Given the description of an element on the screen output the (x, y) to click on. 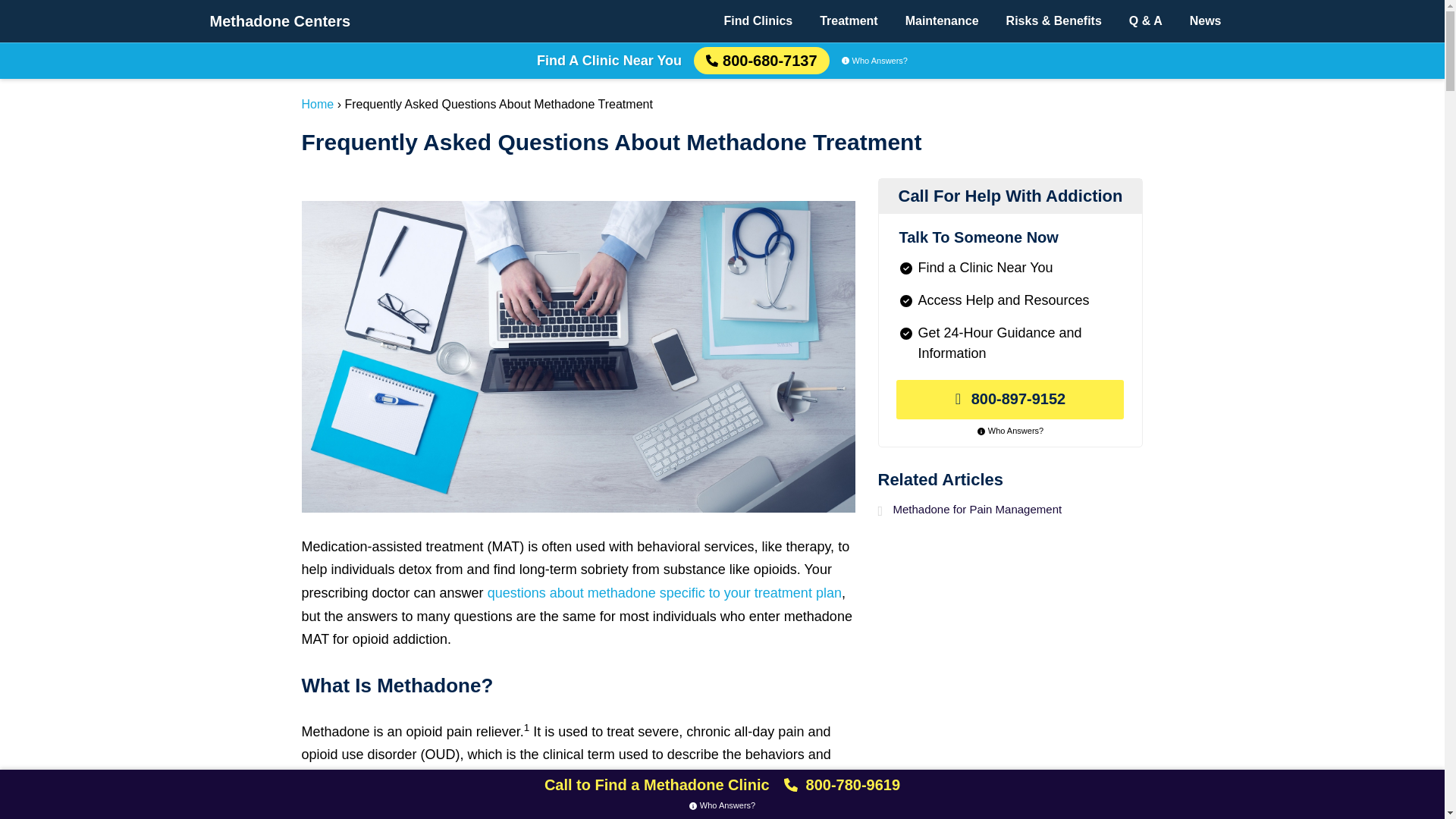
Maintenance (941, 21)
Treatment (848, 21)
Find Clinics (758, 21)
Find A Clinic Near You (609, 60)
News (1205, 21)
800-680-7137 (761, 60)
questions about methadone specific to your treatment plan (664, 592)
Methadone Centers (279, 21)
Home (317, 103)
